Given the description of an element on the screen output the (x, y) to click on. 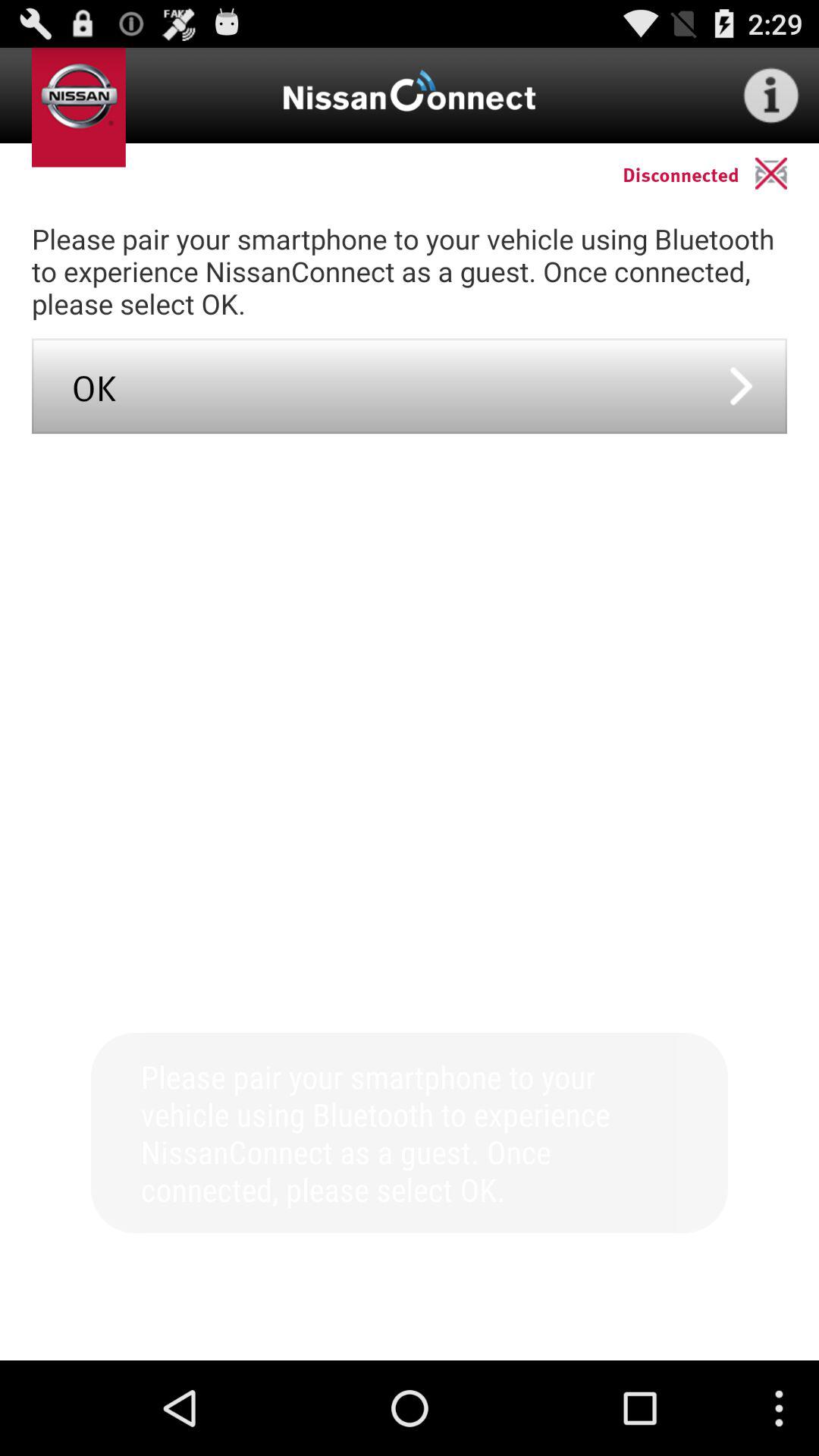
more information (771, 95)
